Given the description of an element on the screen output the (x, y) to click on. 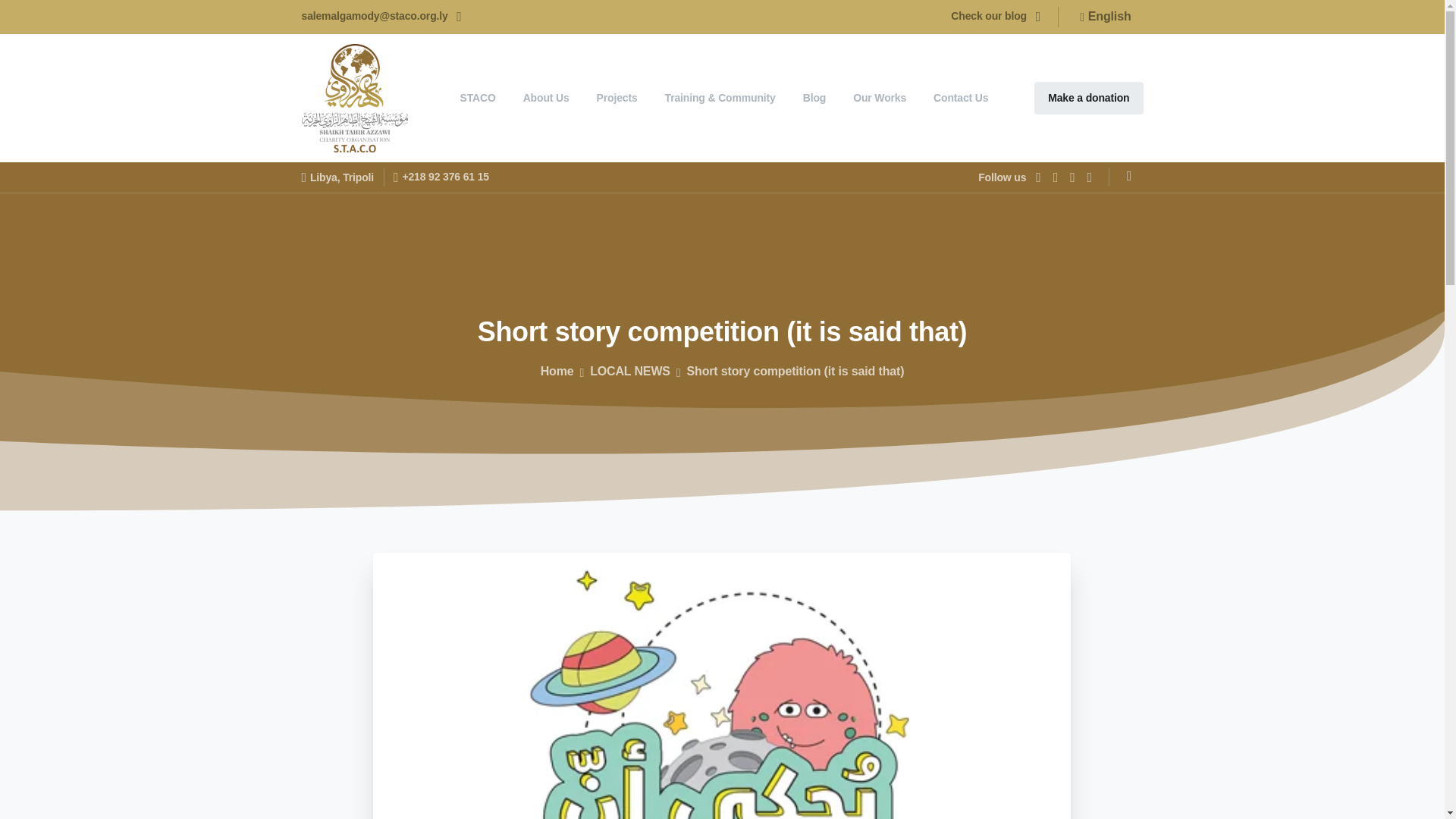
Blog (813, 98)
twitter (1055, 177)
Projects (617, 98)
Projects (617, 98)
Contact Us (960, 98)
youtube (1072, 177)
STACO (476, 98)
Facebook (1037, 177)
About Us (545, 98)
Check our blog (995, 16)
Make a donation (1087, 97)
Our Works (879, 98)
STACO (476, 98)
About Us (545, 98)
Contact Us (960, 98)
